Given the description of an element on the screen output the (x, y) to click on. 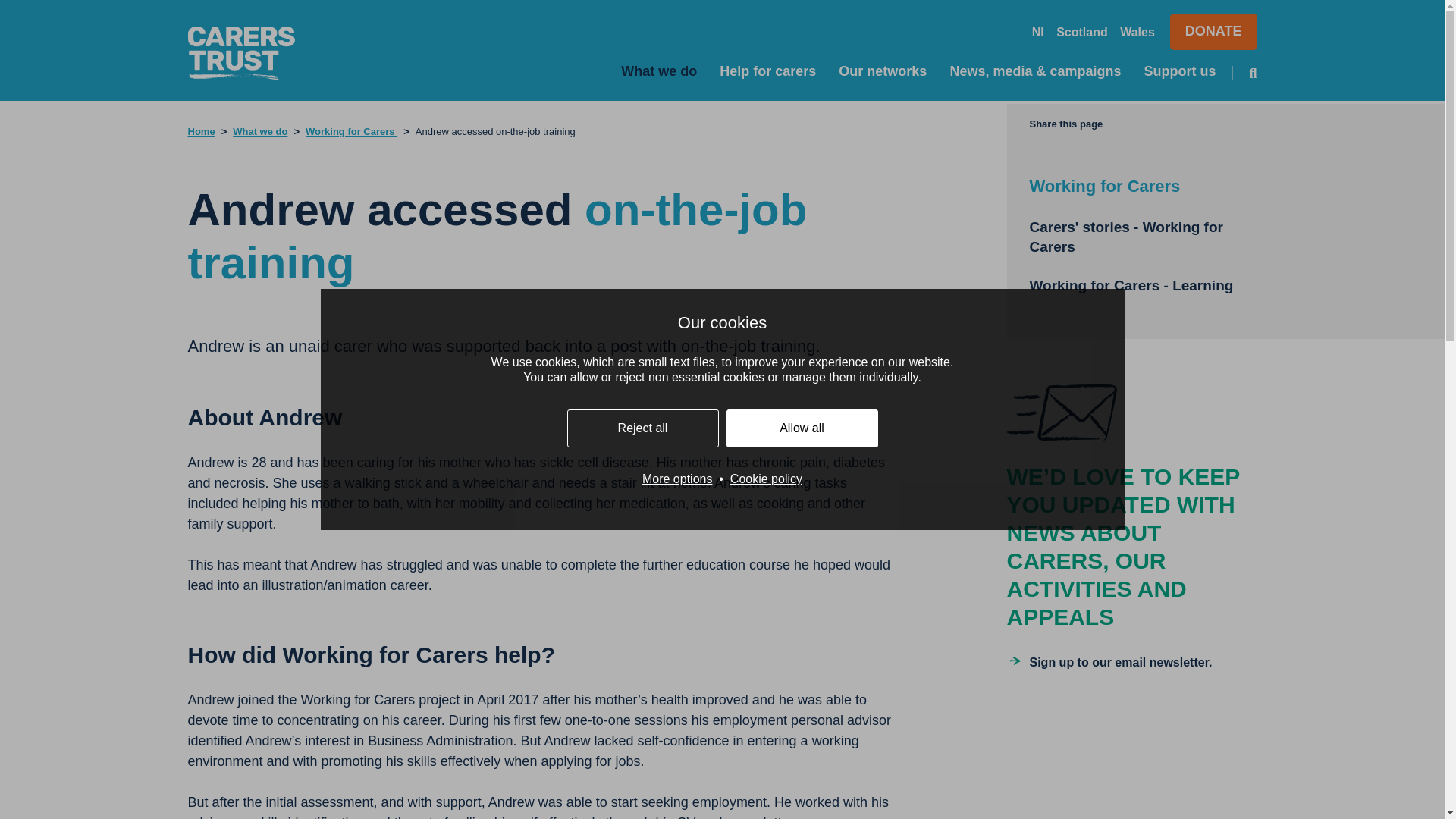
DONATE (1213, 31)
Home (201, 131)
Help for carers (767, 70)
Working for Carers - Learning (1131, 285)
Reject all (643, 428)
Working for Carers (351, 131)
Cookie policy (766, 478)
Wales (1136, 31)
Carers' stories - Working for Carers (1126, 236)
Sign up to our email newsletter. (1109, 661)
Working for Carers (1104, 185)
What we do (659, 70)
Our networks (882, 70)
Allow all (801, 428)
More options (677, 478)
